Given the description of an element on the screen output the (x, y) to click on. 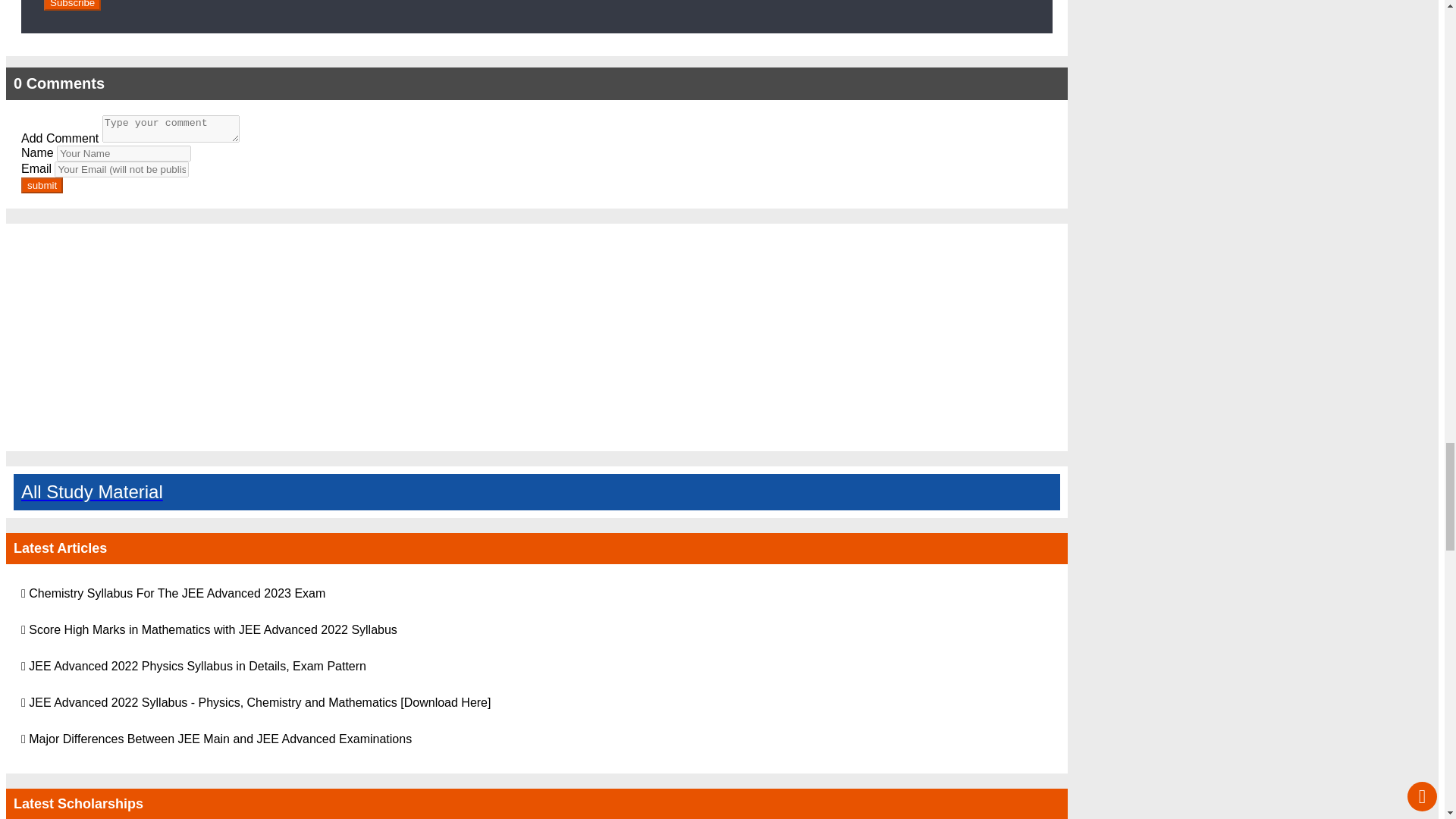
submit (41, 185)
